Given the description of an element on the screen output the (x, y) to click on. 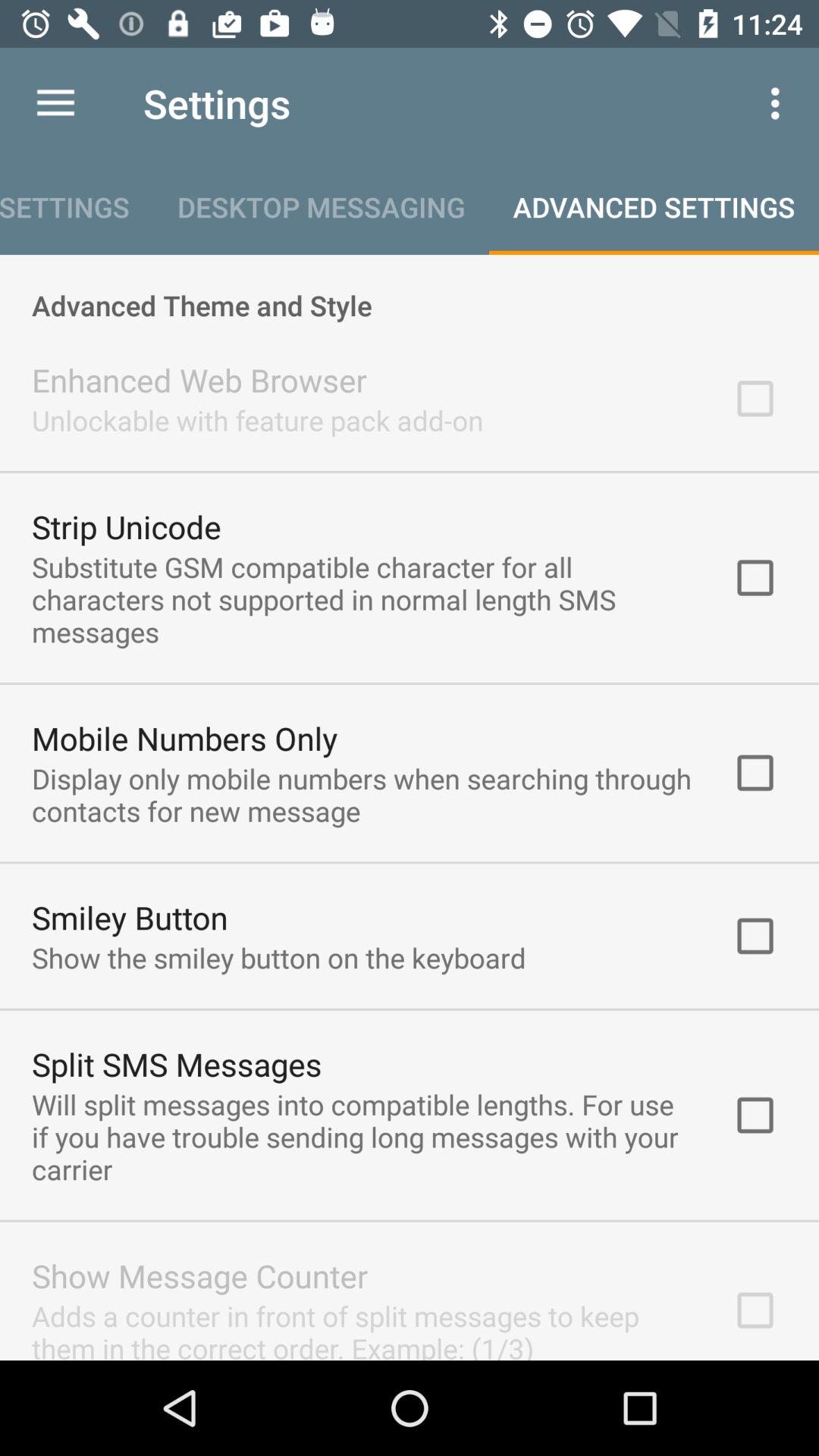
turn off the substitute gsm compatible item (361, 599)
